Given the description of an element on the screen output the (x, y) to click on. 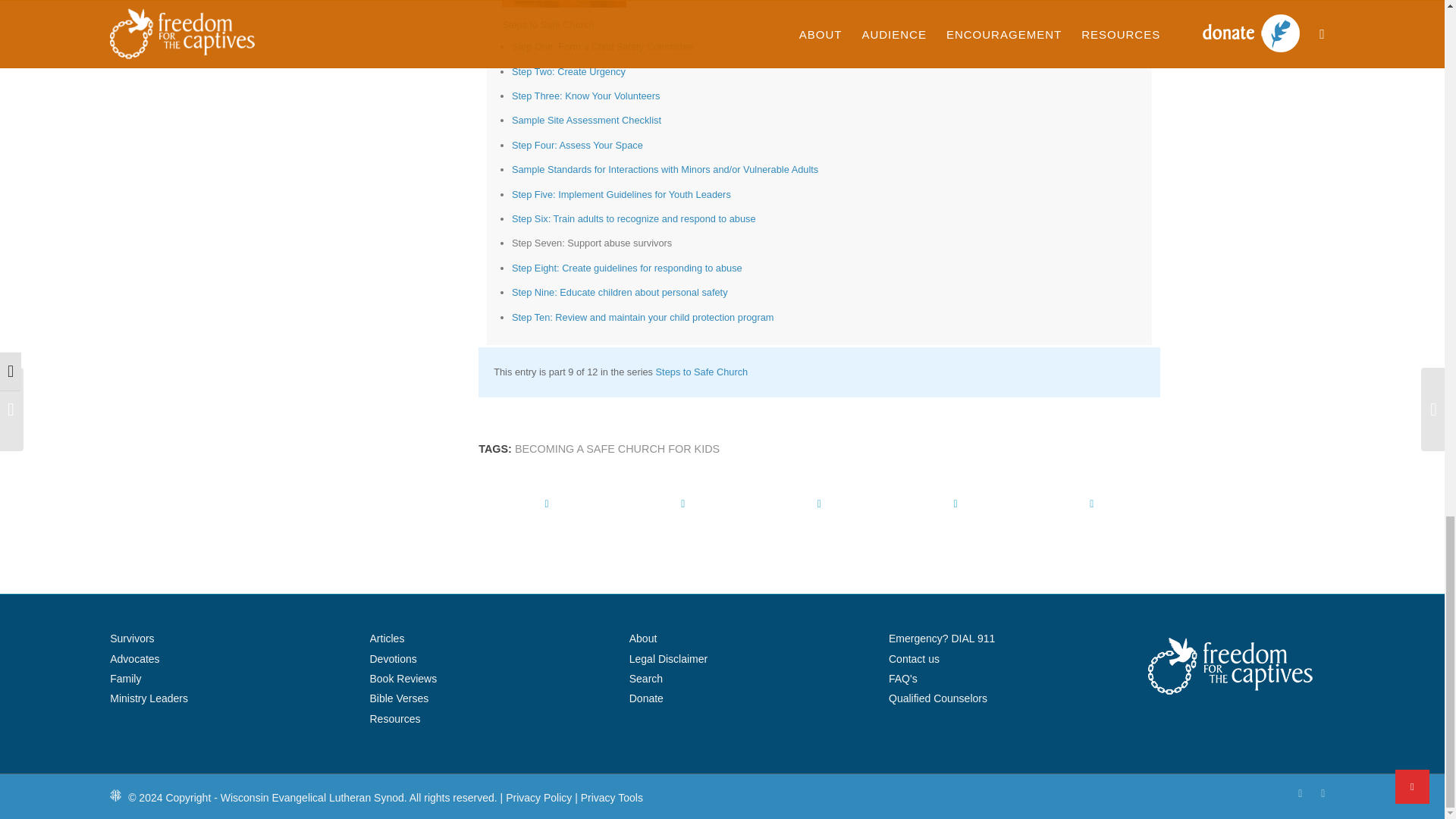
Steps to Safe Church (548, 24)
Step Four: Assess Your Space (577, 144)
Step Three: Know Your Volunteers (585, 95)
Step One: Form a Child Safety Committee (603, 46)
Sample Site Assessment Checklist (586, 120)
Step Two: Create Urgency (569, 71)
